Given the description of an element on the screen output the (x, y) to click on. 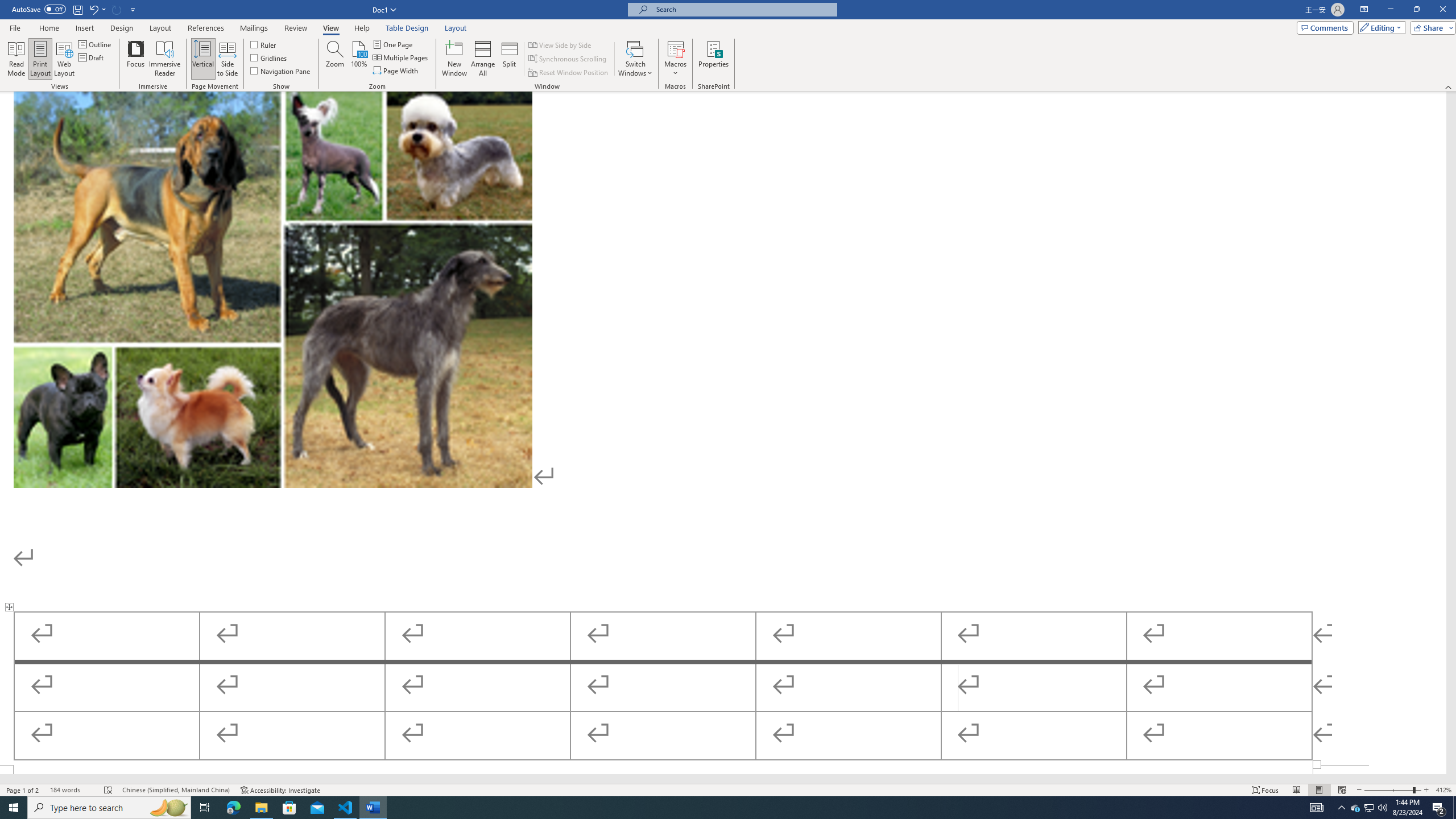
Vertical (202, 58)
Properties (713, 58)
Immersive Reader (165, 58)
Undo Row Height Spinner (96, 9)
Outline (95, 44)
100% (358, 58)
Page Number Page 1 of 2 (22, 790)
Draft (91, 56)
Side to Side (226, 58)
